Given the description of an element on the screen output the (x, y) to click on. 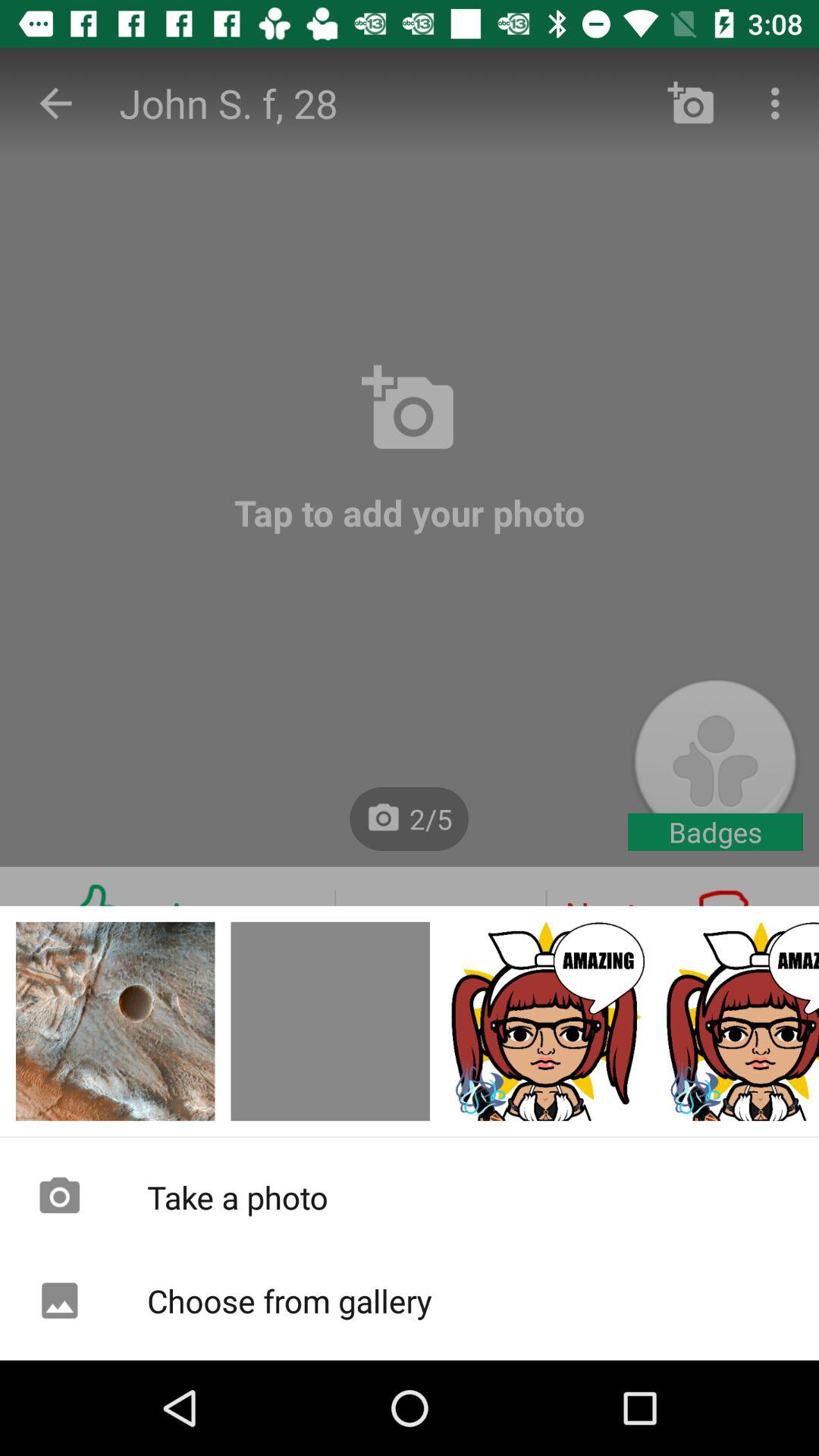
click the icon at the center (409, 680)
